Given the description of an element on the screen output the (x, y) to click on. 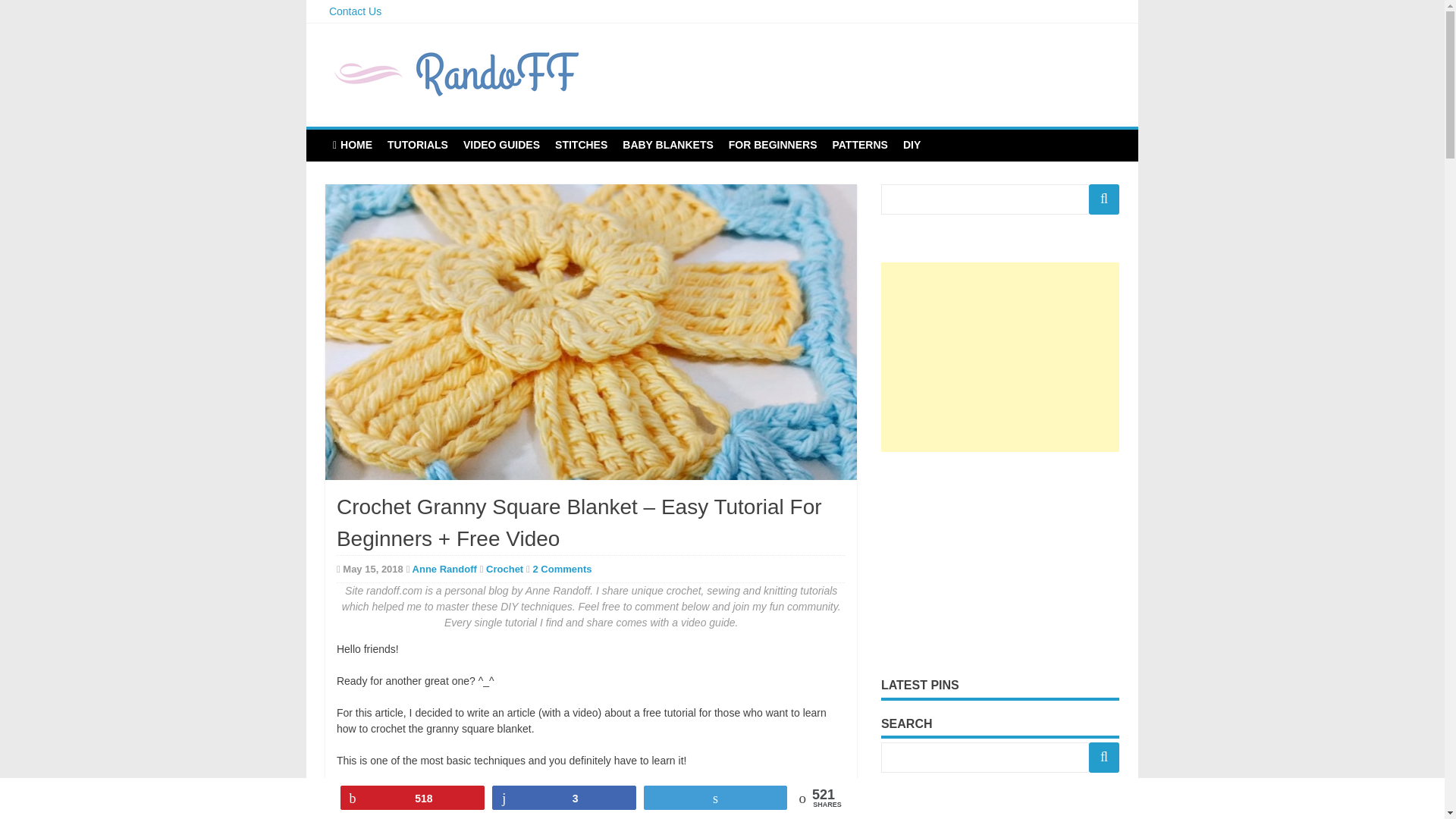
Crochet (504, 568)
Advertisement (999, 562)
Anne Randoff (444, 568)
BABY BLANKETS (667, 144)
TUTORIALS (417, 144)
PATTERNS (860, 144)
FOR BEGINNERS (772, 144)
Contact Us (354, 11)
2 Comments (561, 568)
HOME (352, 145)
VIDEO GUIDES (501, 144)
DIY (911, 144)
STITCHES (580, 144)
